Given the description of an element on the screen output the (x, y) to click on. 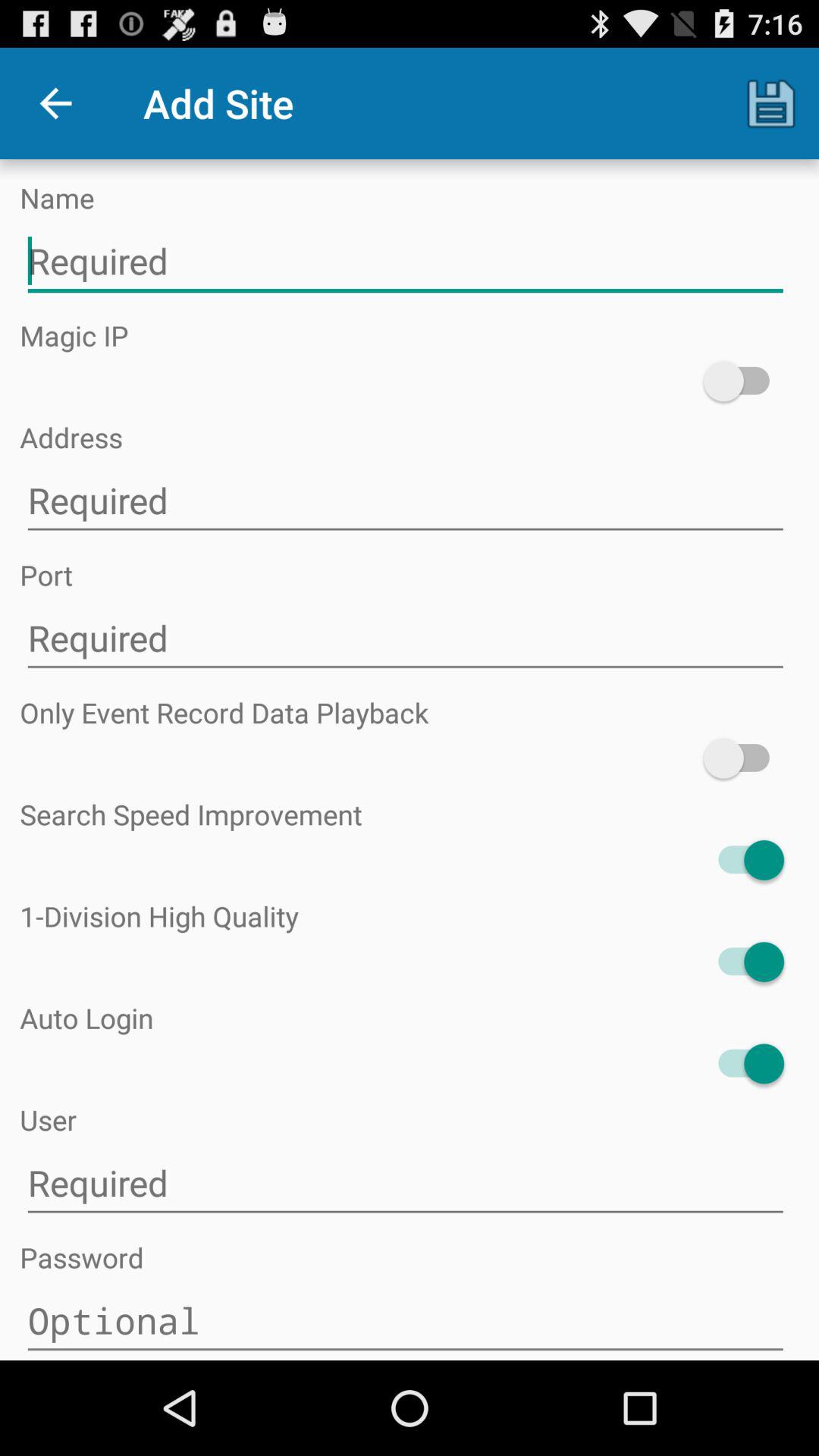
launch icon below search speed improvement (743, 860)
